Given the description of an element on the screen output the (x, y) to click on. 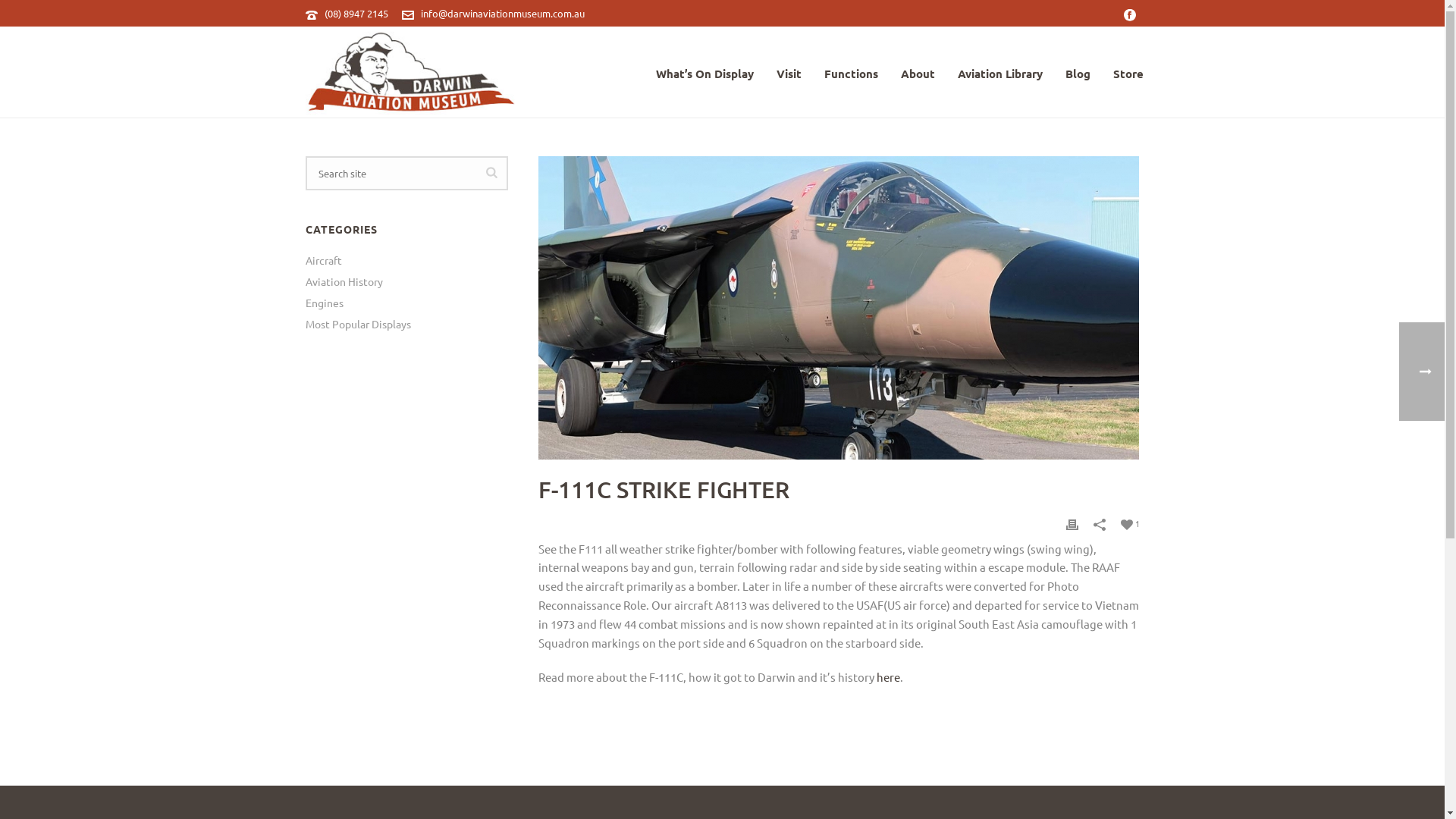
Darwin Aviation Museum Element type: hover (409, 71)
Store Element type: text (1127, 71)
About Element type: text (916, 71)
  Element type: text (838, 307)
1 Element type: text (1129, 522)
Functions Element type: text (850, 71)
Blog Element type: text (1077, 71)
Print Element type: hover (1072, 522)
here Element type: text (888, 676)
(08) 8947 2145 Element type: text (356, 12)
Visit Element type: text (788, 71)
Engines Element type: text (323, 302)
Aviation History Element type: text (343, 281)
Aviation Library Element type: text (1000, 71)
Most Popular Displays Element type: text (357, 323)
Aircraft Element type: text (322, 259)
F-111C Strike Fighter Element type: hover (838, 307)
info@darwinaviationmuseum.com.au Element type: text (501, 12)
